Given the description of an element on the screen output the (x, y) to click on. 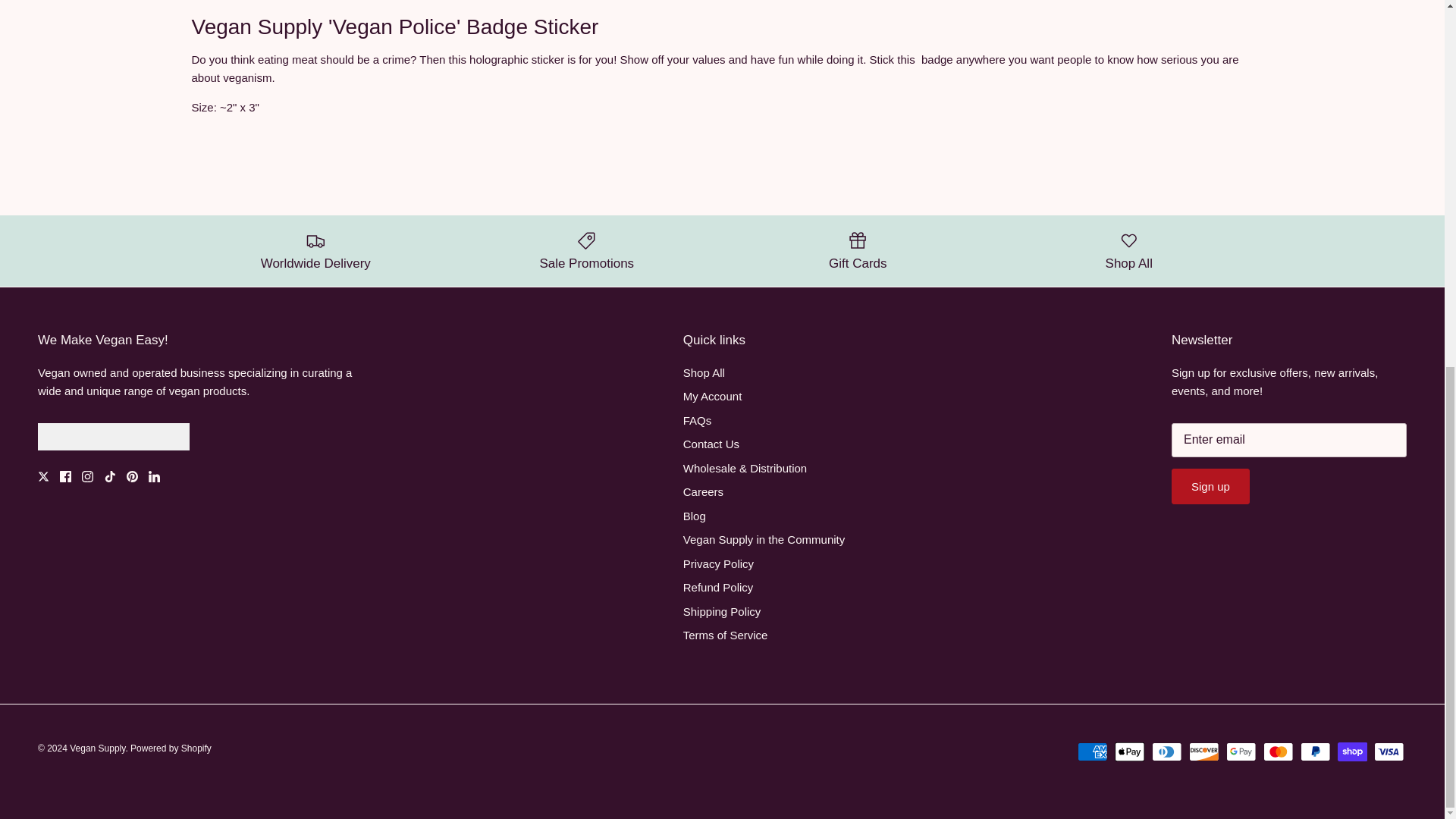
Facebook (65, 476)
Instagram (87, 476)
